Given the description of an element on the screen output the (x, y) to click on. 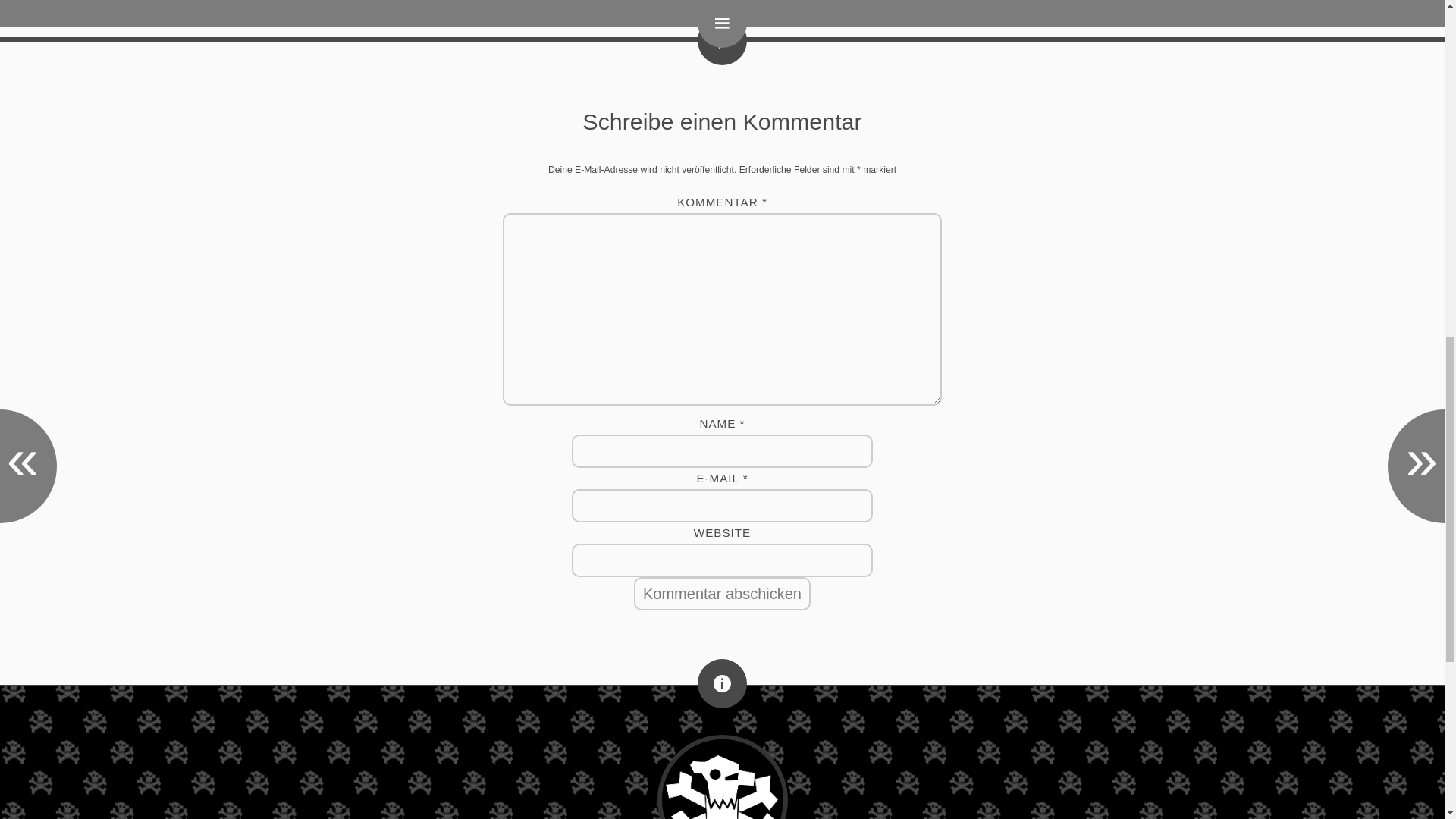
Kommentar abschicken (721, 593)
Orkpiraten (721, 776)
